Given the description of an element on the screen output the (x, y) to click on. 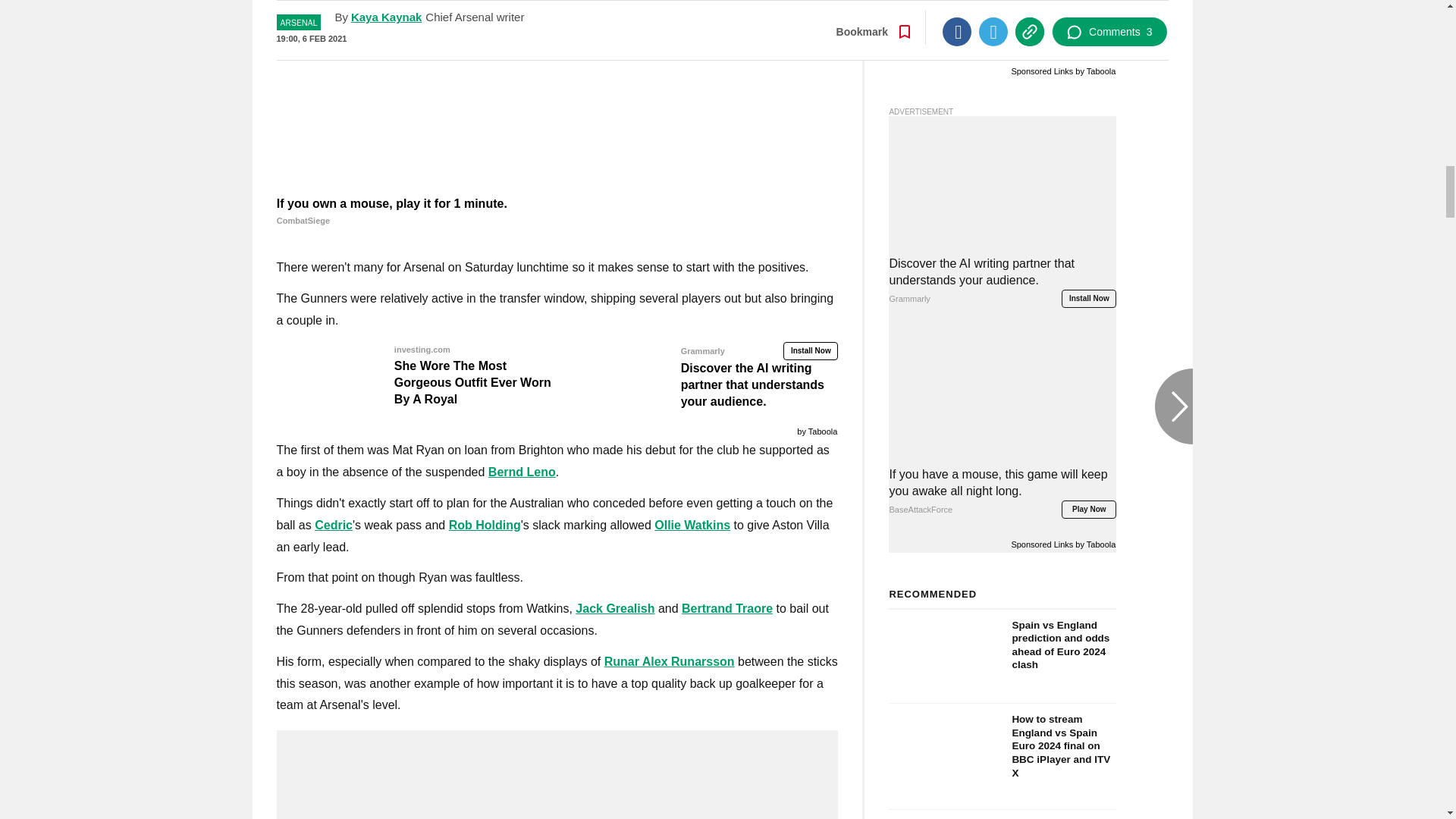
If you own a mouse, play it for 1 minute. (557, 212)
